Given the description of an element on the screen output the (x, y) to click on. 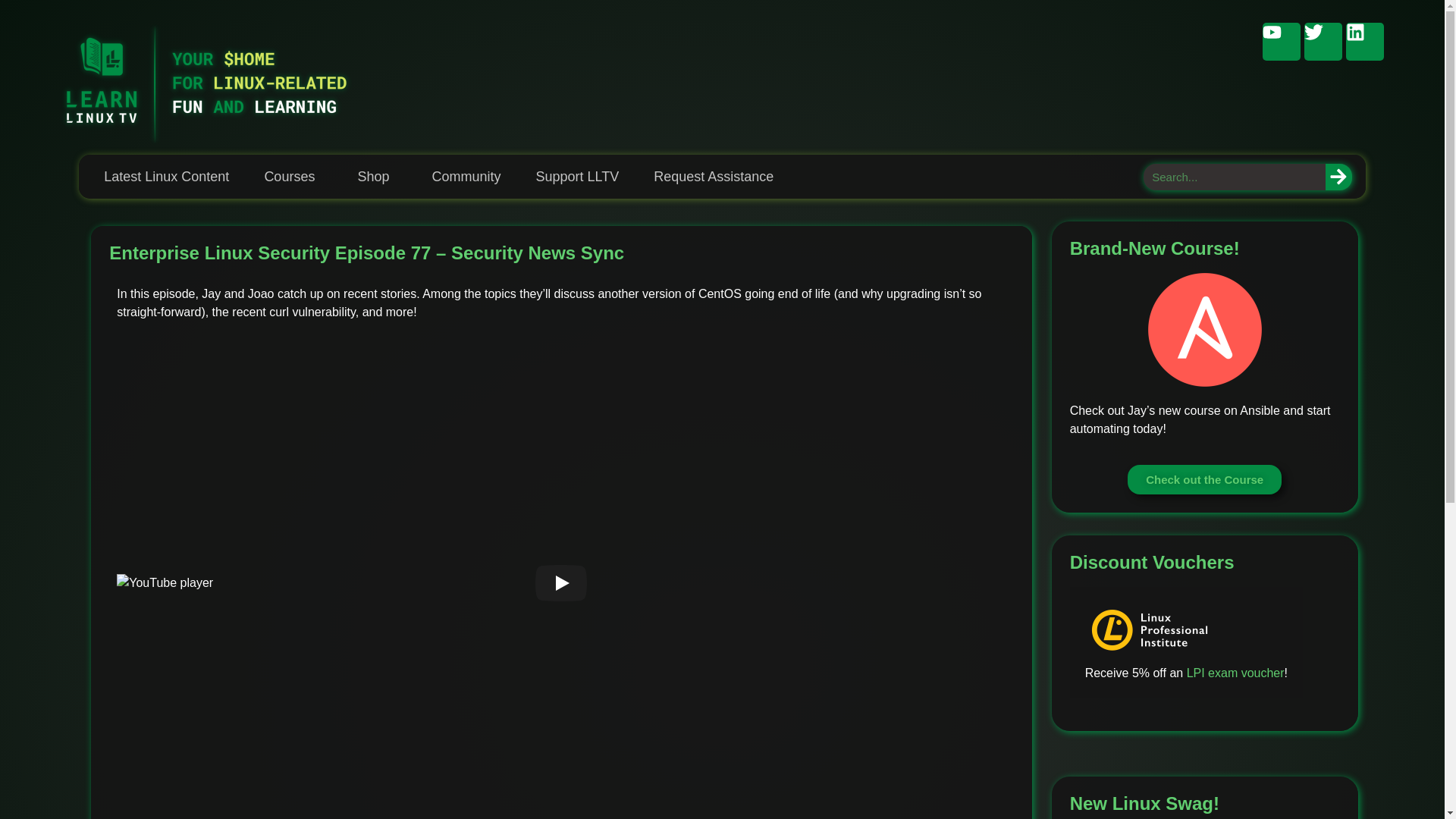
Courses (293, 176)
Community (465, 176)
Latest Linux Content (166, 176)
Shop (376, 176)
Support LLTV (576, 176)
Request Assistance (713, 176)
ansible (1205, 329)
